Given the description of an element on the screen output the (x, y) to click on. 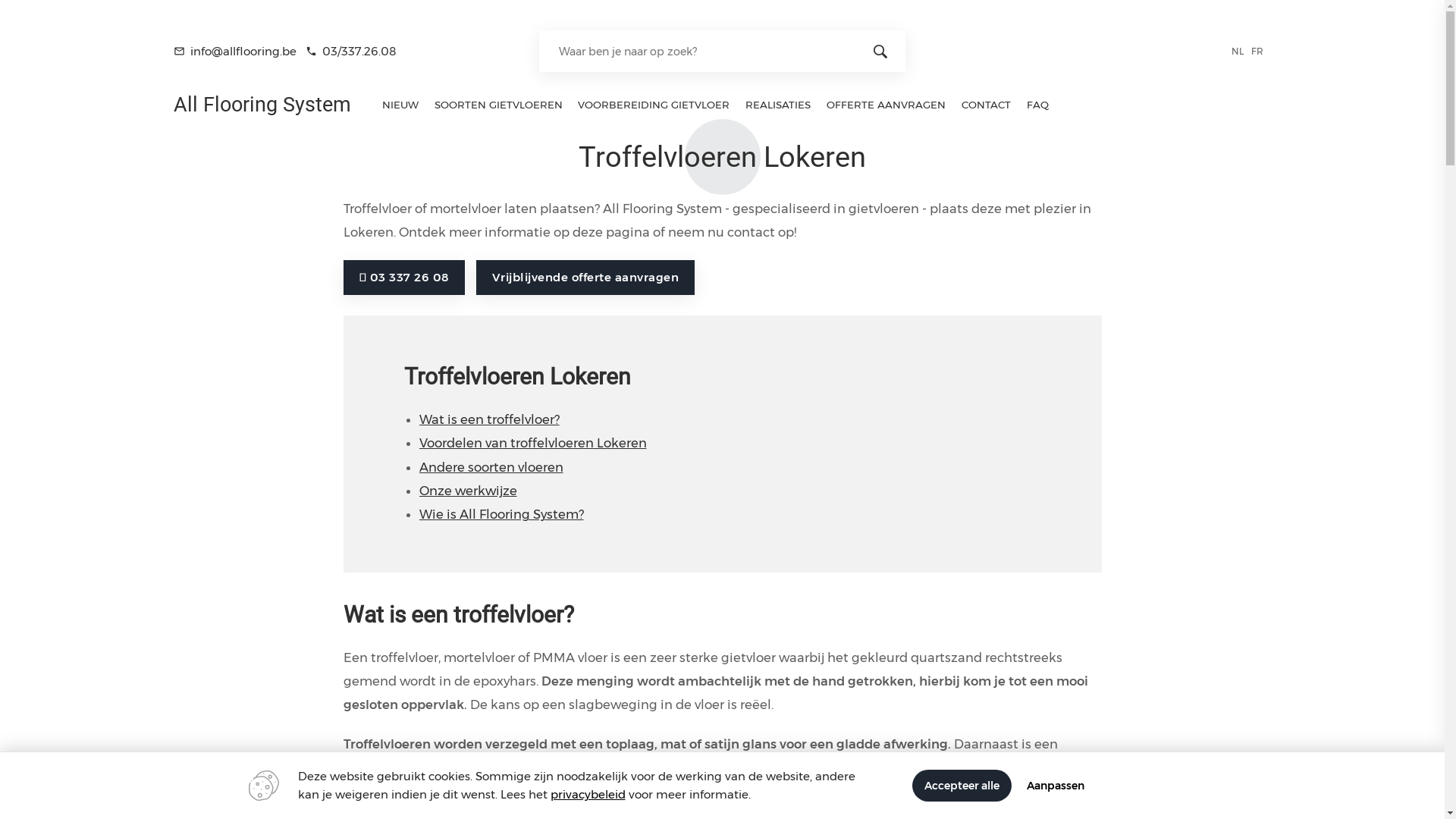
All Flooring System Element type: text (262, 107)
Wat is een troffelvloer? Element type: text (488, 419)
CONTACT Element type: text (986, 104)
NL Element type: text (1240, 50)
FR Element type: text (1260, 50)
REALISATIES Element type: text (778, 104)
Onze werkwijze Element type: text (467, 490)
mail_outline
info@allflooring.be Element type: text (234, 51)
Vrijblijvende offerte aanvragen Element type: text (585, 277)
NIEUW Element type: text (399, 104)
OFFERTE AANVRAGEN Element type: text (886, 104)
privacybeleid Element type: text (587, 794)
Wie is All Flooring System? Element type: text (500, 514)
VOORBEREIDING GIETVLOER Element type: text (654, 104)
Aanpassen Element type: text (1055, 785)
Andere soorten vloeren Element type: text (490, 467)
Accepteer alle Element type: text (960, 785)
FAQ Element type: text (1037, 104)
Voordelen van troffelvloeren Lokeren Element type: text (532, 443)
phone
03/337.26.08 Element type: text (350, 51)
